Given the description of an element on the screen output the (x, y) to click on. 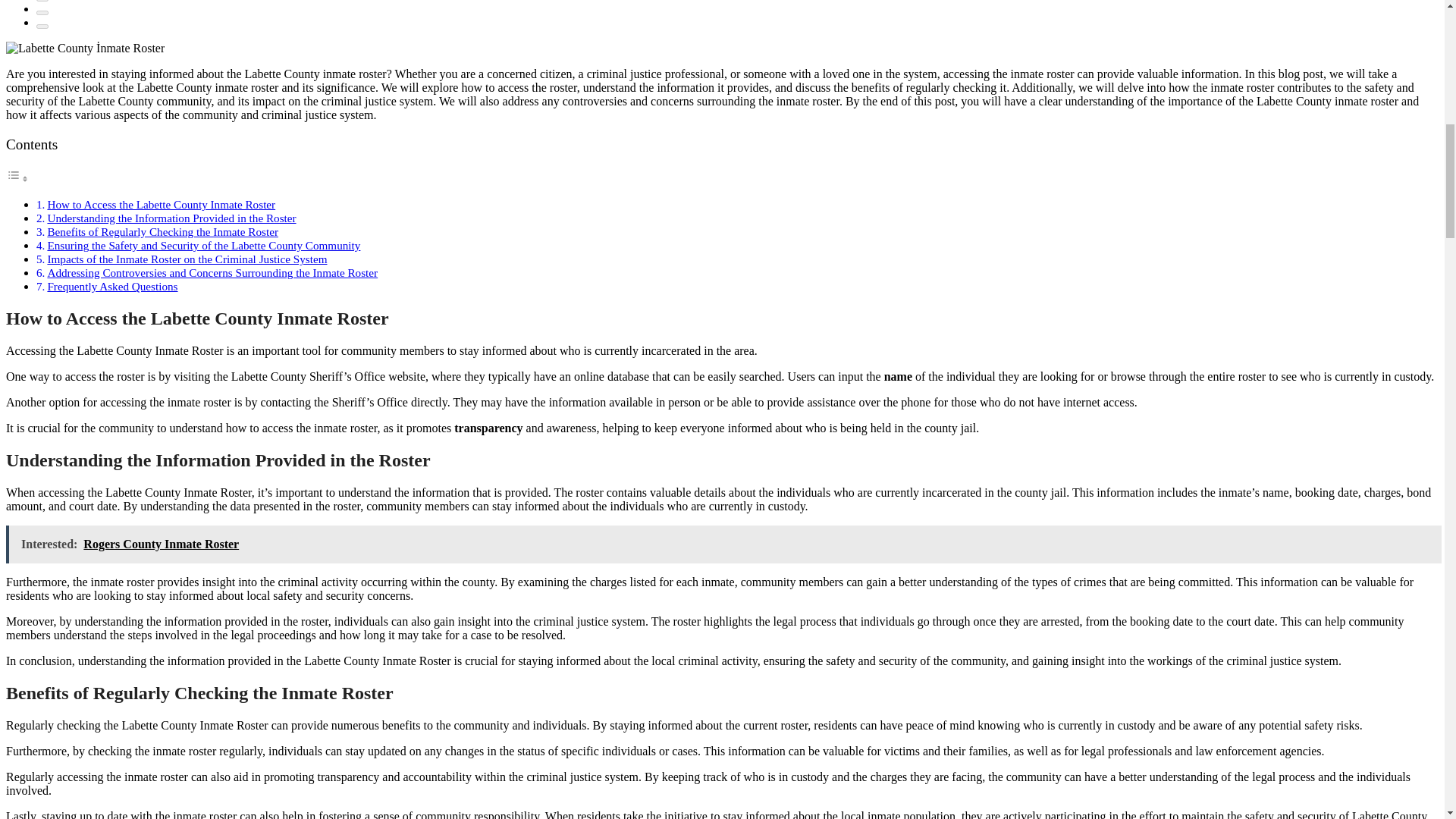
How to Access the Labette County Inmate Roster (160, 204)
Benefits of Regularly Checking the Inmate Roster (162, 231)
Understanding the Information Provided in the Roster (170, 217)
